Given the description of an element on the screen output the (x, y) to click on. 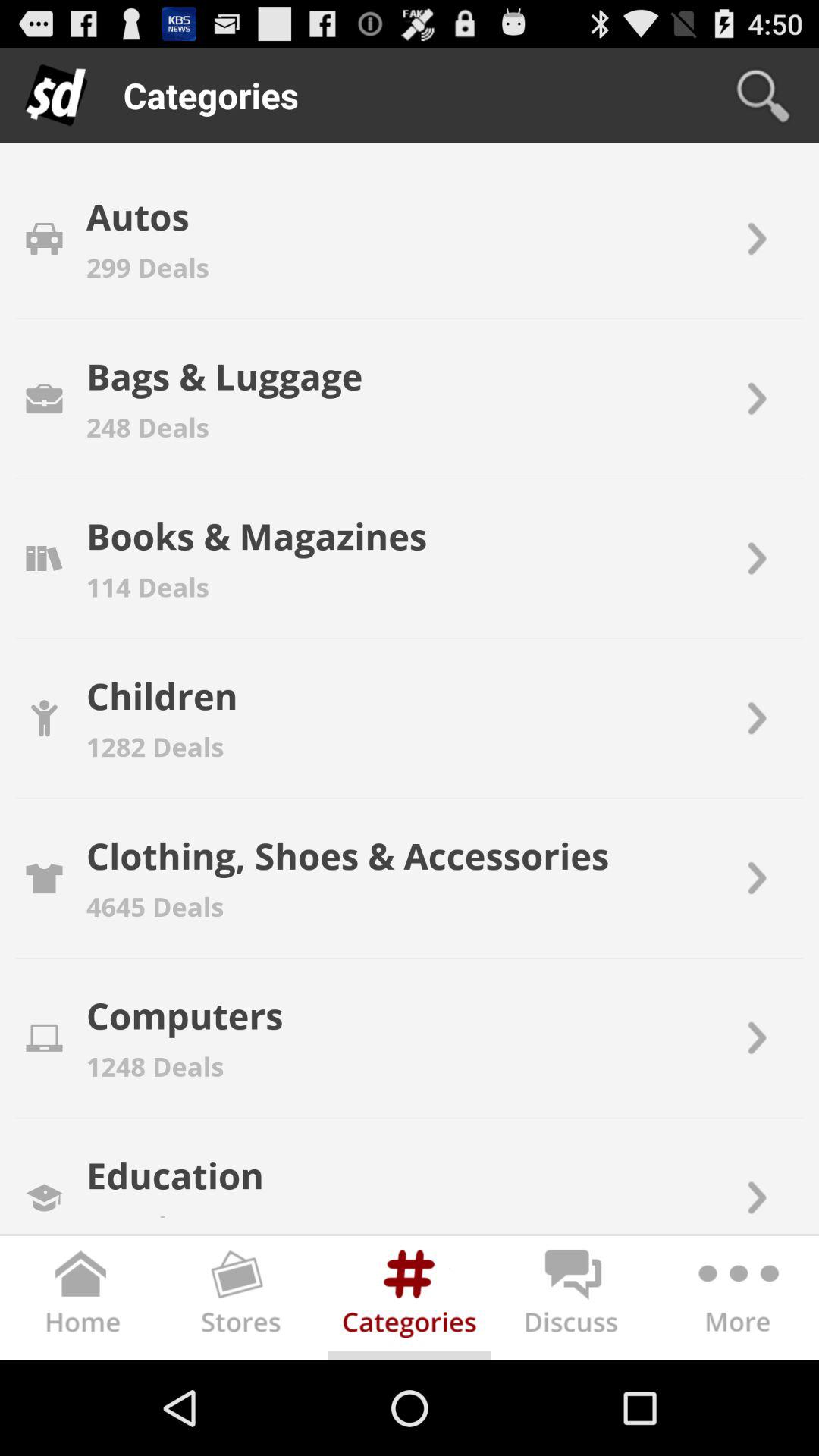
see more options (736, 1300)
